Given the description of an element on the screen output the (x, y) to click on. 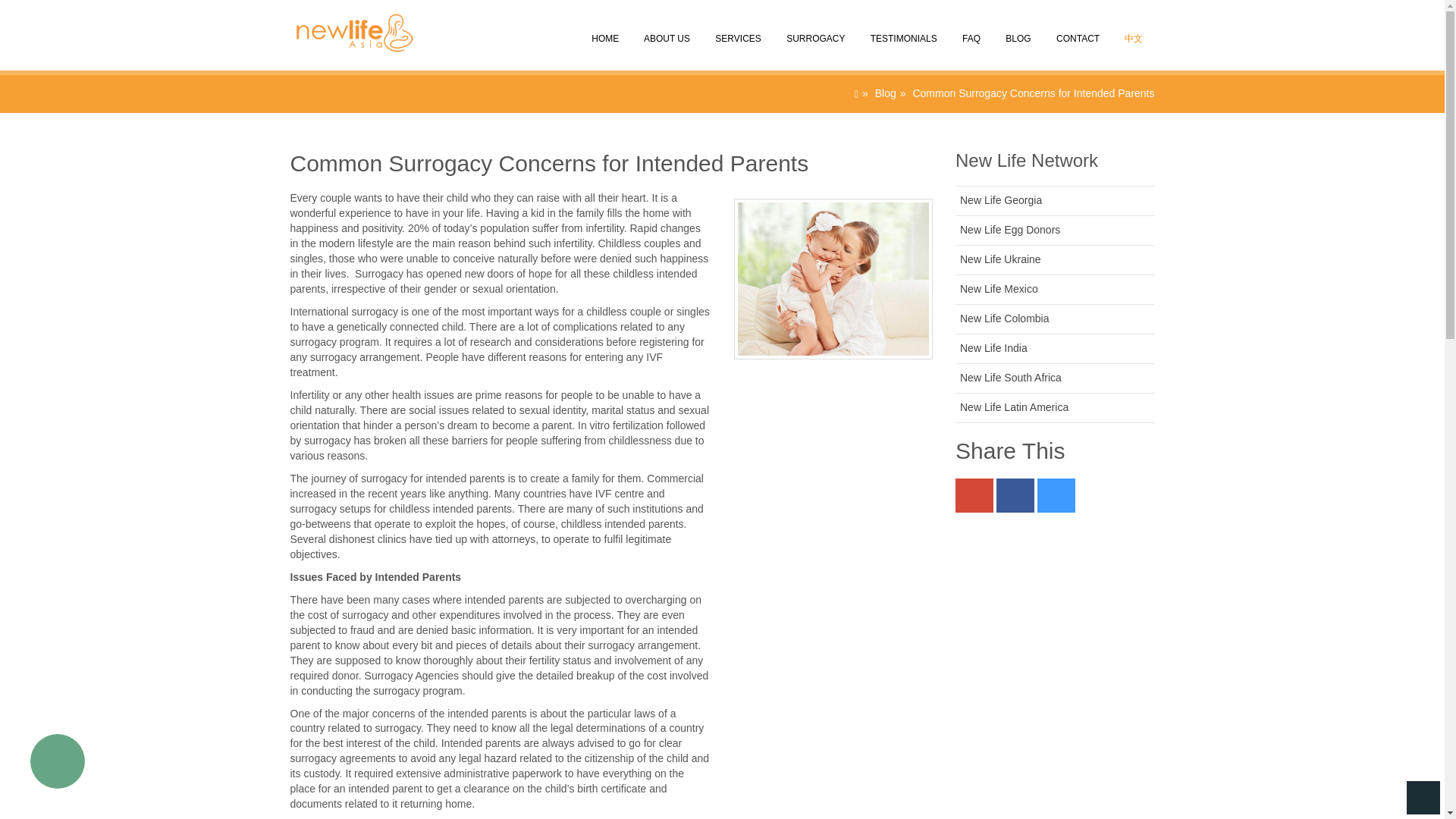
New Life Mexico (998, 288)
 SERVICES (737, 33)
About Us (665, 33)
 CONTACT (1076, 33)
Surrogacy Asia EN (346, 18)
 ABOUT US (665, 33)
 SURROGACY (815, 33)
New Life Colombia (1004, 318)
New Life Latin America (1013, 407)
 TESTIMONIALS (903, 33)
New Life Egg Donors (1009, 229)
SERVICES (737, 33)
New Life Georgia (1000, 200)
Blog (885, 92)
New Life South Africa (1010, 377)
